Given the description of an element on the screen output the (x, y) to click on. 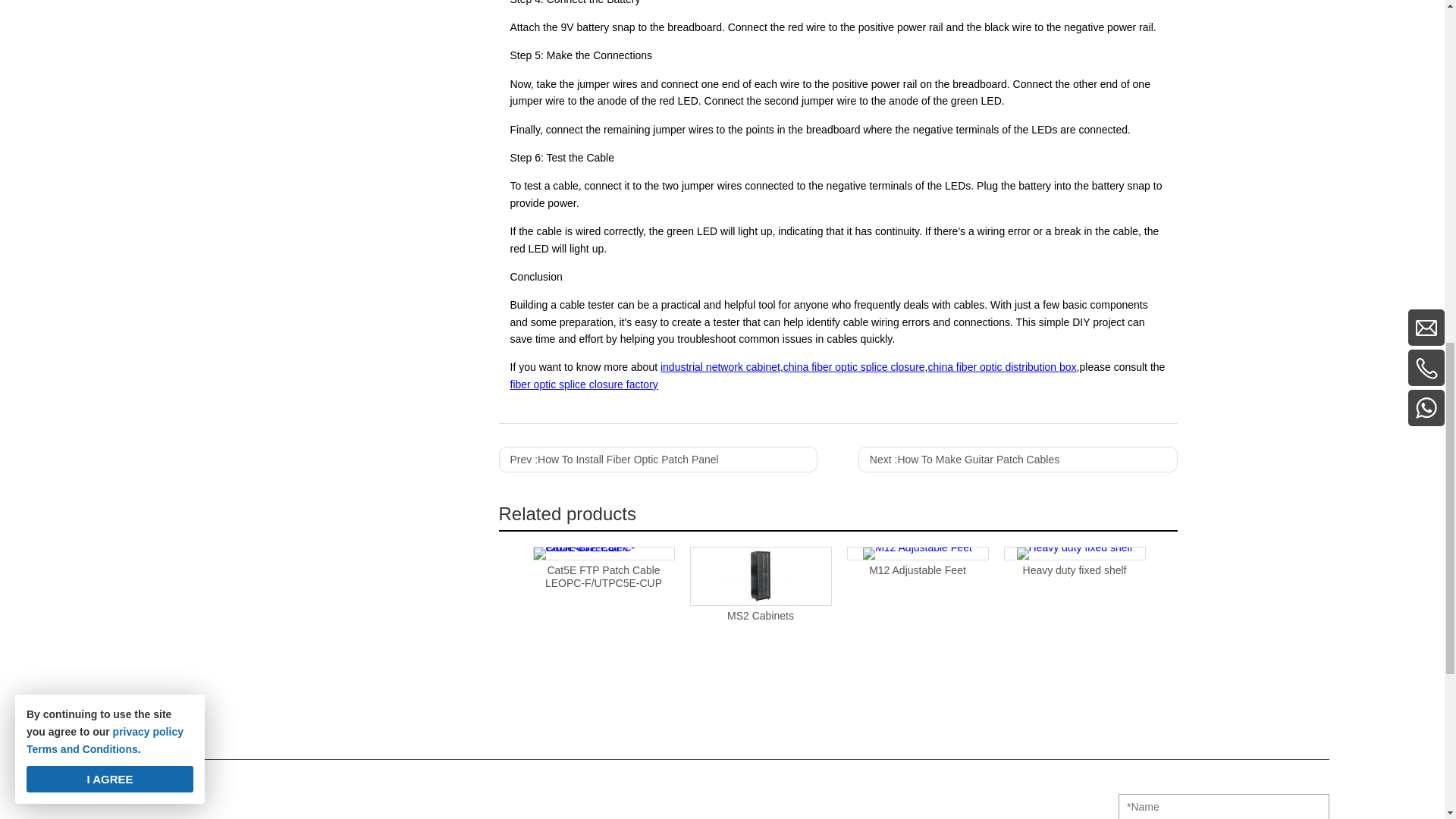
MS2 Cabinets (759, 576)
M12 Adjustable Feet (917, 553)
Heavy duty fixed shelf (1074, 553)
